Given the description of an element on the screen output the (x, y) to click on. 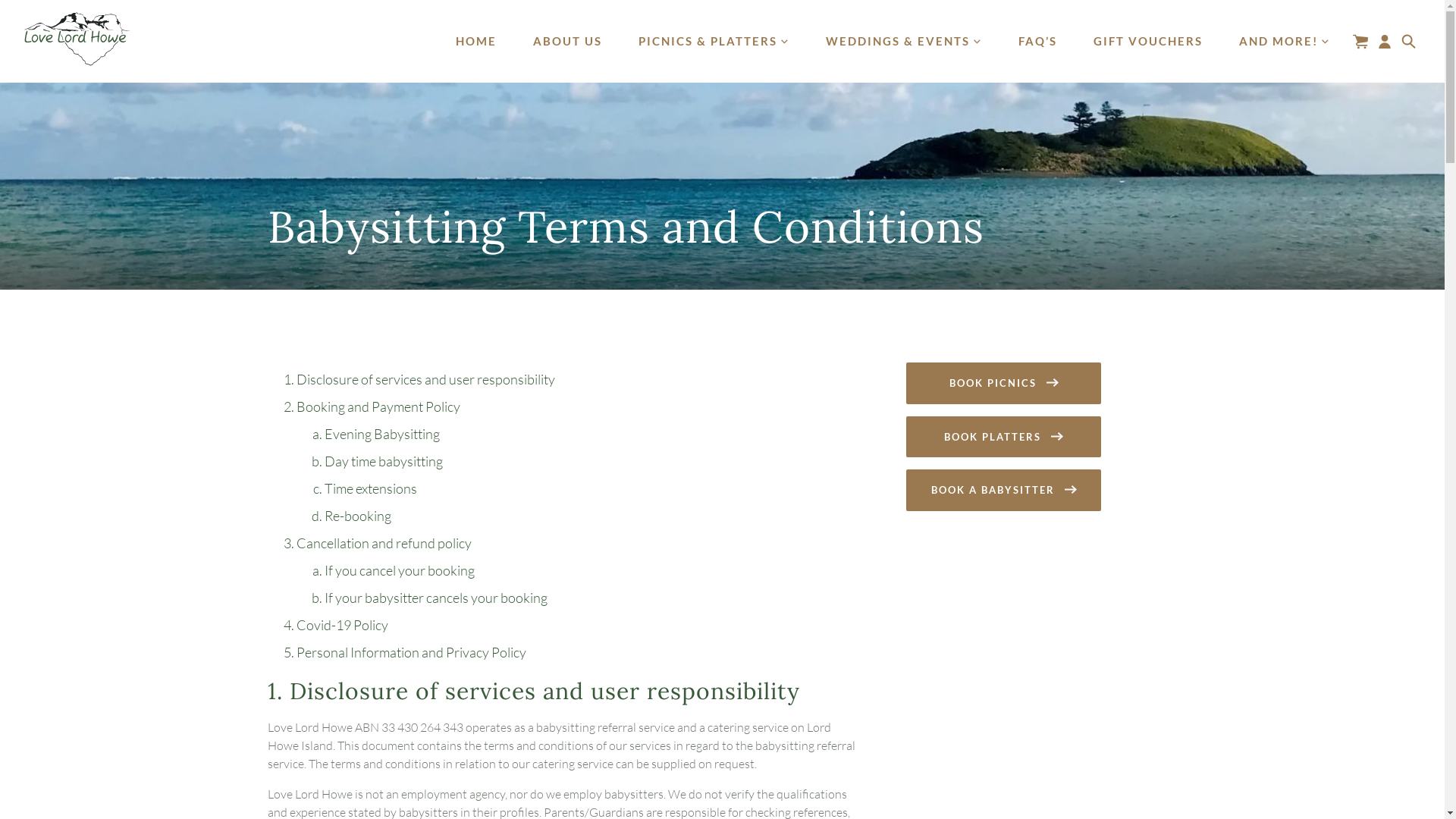
If you cancel your booking Element type: text (399, 569)
Re-booking Element type: text (357, 515)
Day time babysitting Element type: text (383, 460)
Covid-19 Policy Element type: text (342, 624)
PICNICS & PLATTERS Element type: text (713, 41)
My account Element type: hover (1384, 41)
ABOUT US Element type: text (567, 41)
Cancellation and refund policy Element type: text (383, 542)
Time extensions Element type: text (370, 488)
If your babysitter cancels your booking Element type: text (435, 597)
View cart (0 items) Element type: hover (1360, 41)
BOOK PICNICS Element type: text (1003, 383)
Personal Information and Privacy Policy Element type: text (411, 651)
GIFT VOUCHERS Element type: text (1147, 41)
Evening Babysitting Element type: text (381, 433)
AND MORE! Element type: text (1284, 41)
Booking and Payment Policy Element type: text (378, 406)
WEDDINGS & EVENTS Element type: text (903, 41)
Disclosure of services and user responsibility Element type: text (425, 378)
HOME Element type: text (475, 41)
BOOK A BABYSITTER Element type: text (1003, 490)
BOOK PLATTERS Element type: text (1003, 437)
